Given the description of an element on the screen output the (x, y) to click on. 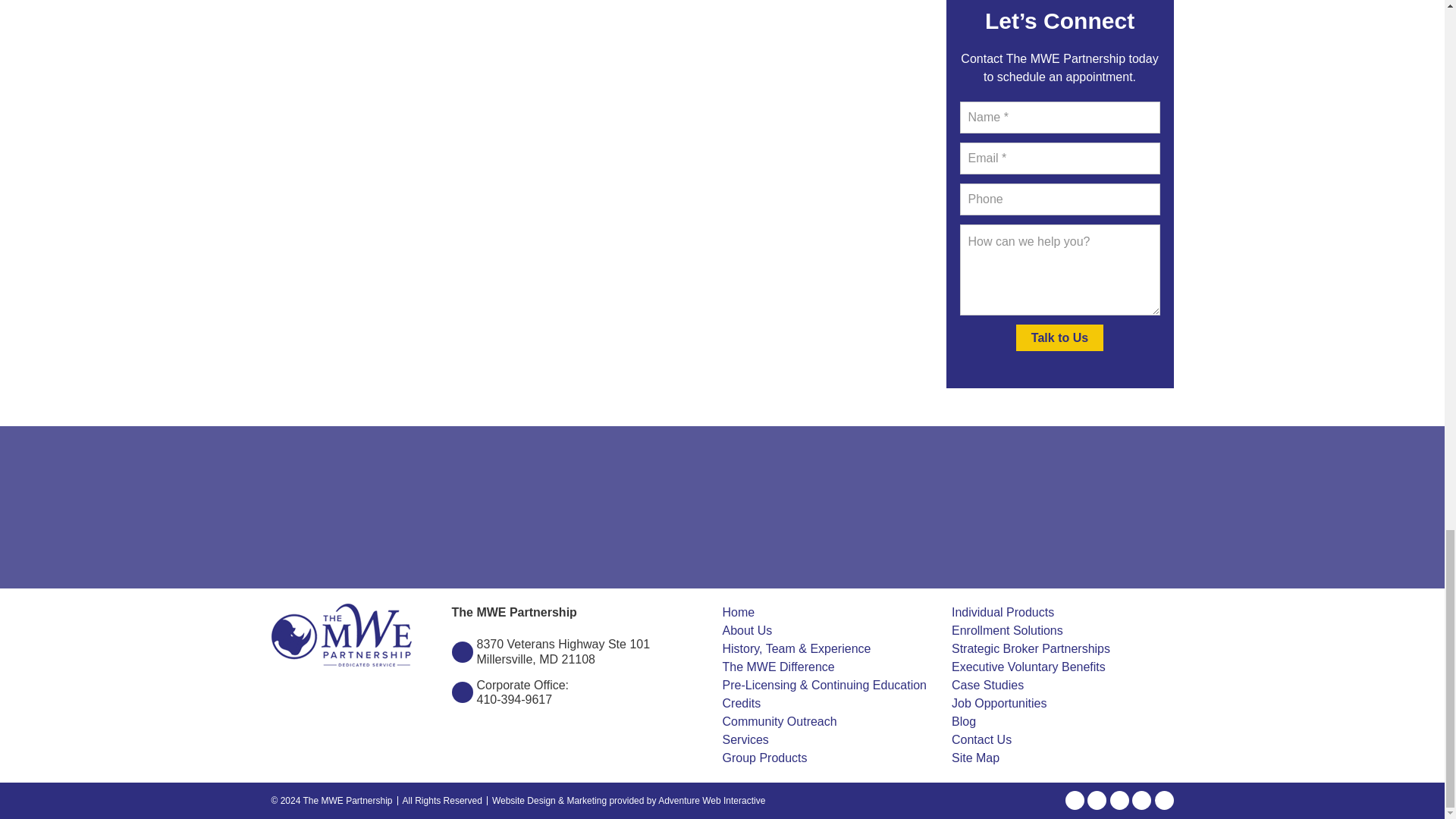
The MWE Partnership (341, 634)
Talk to Us (1059, 337)
